Given the description of an element on the screen output the (x, y) to click on. 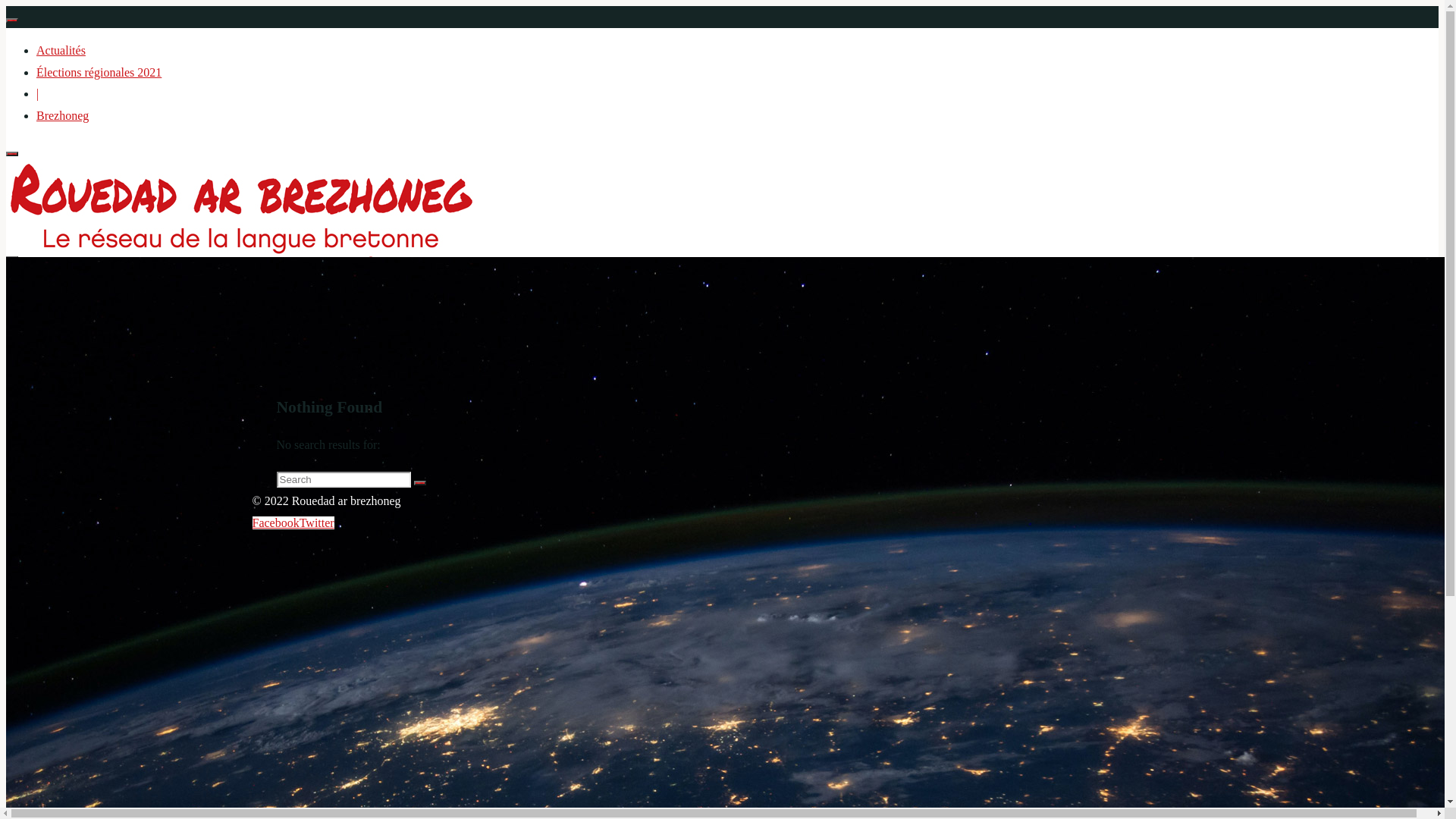
| Element type: text (37, 599)
Facebook Element type: text (274, 521)
Rouedad ar brezhoneg Element type: hover (243, 304)
Brezhoneg Element type: text (58, 694)
| Element type: text (37, 93)
Brezhoneg Element type: text (62, 115)
Esotera Element type: text (1101, 500)
Twitter Element type: text (316, 521)
WordPress Element type: text (1163, 500)
Skip to content Element type: text (5, 5)
Search Element type: text (420, 482)
